Given the description of an element on the screen output the (x, y) to click on. 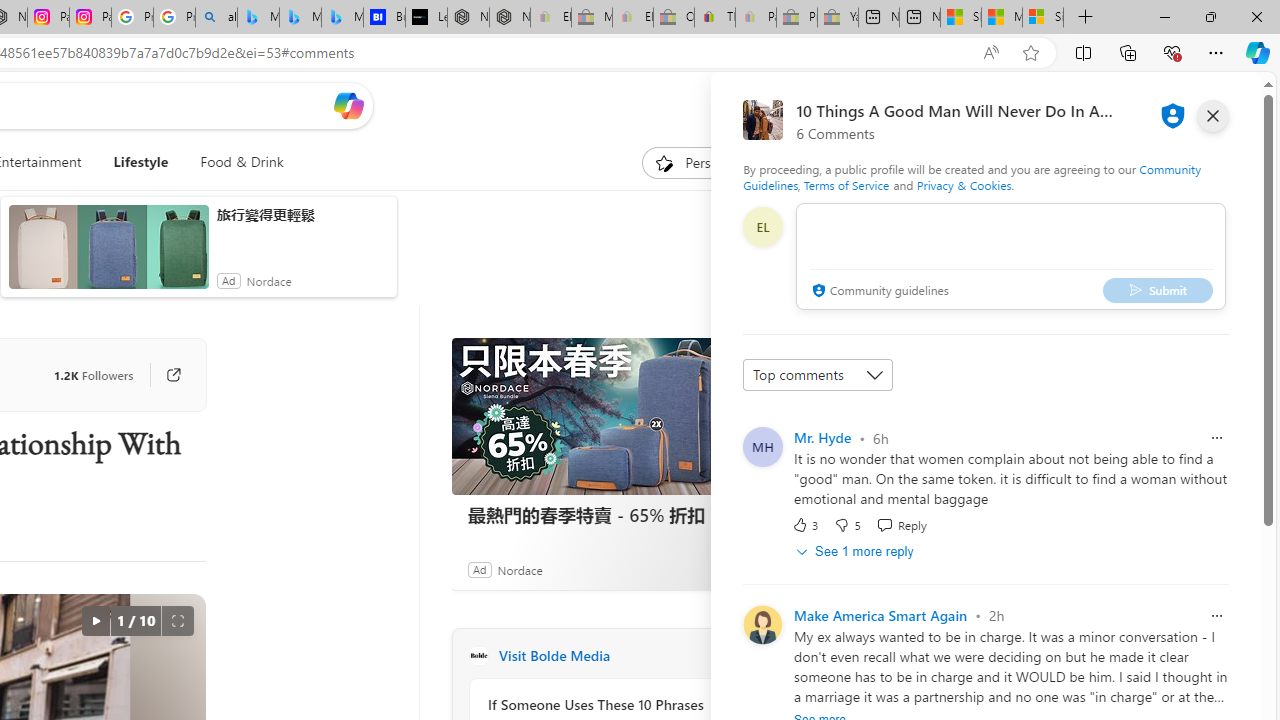
anim-content (107, 255)
Submit (1158, 290)
Go to publisher's site (163, 374)
Ad (479, 569)
Payments Terms of Use | eBay.com - Sleeping (755, 17)
Ad Choice (729, 569)
comment-box (1011, 256)
Community guidelines (878, 291)
